Given the description of an element on the screen output the (x, y) to click on. 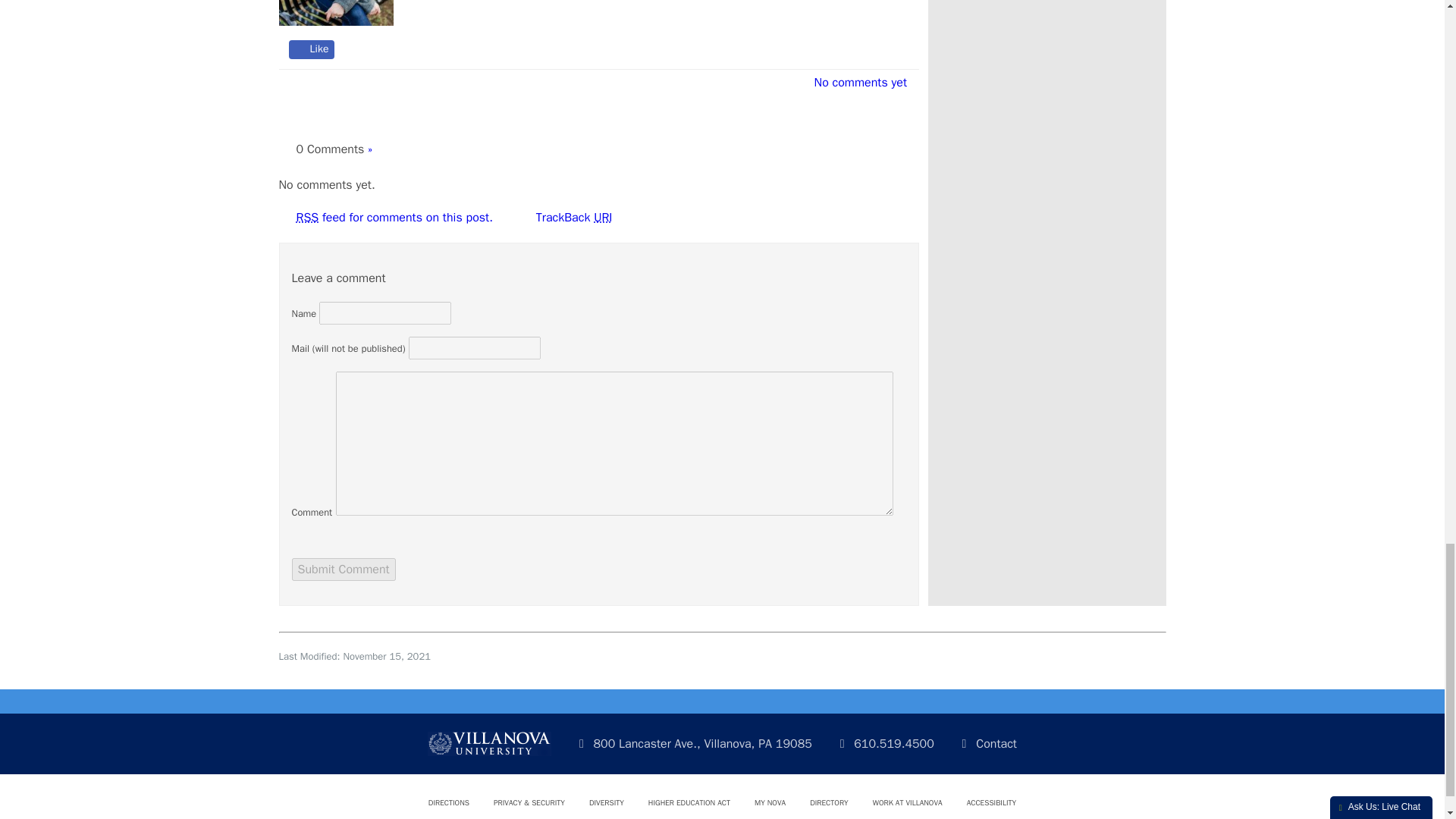
Submit Comment (342, 568)
Uniform Resource Identifier (602, 217)
Really Simple Syndication (306, 217)
